Given the description of an element on the screen output the (x, y) to click on. 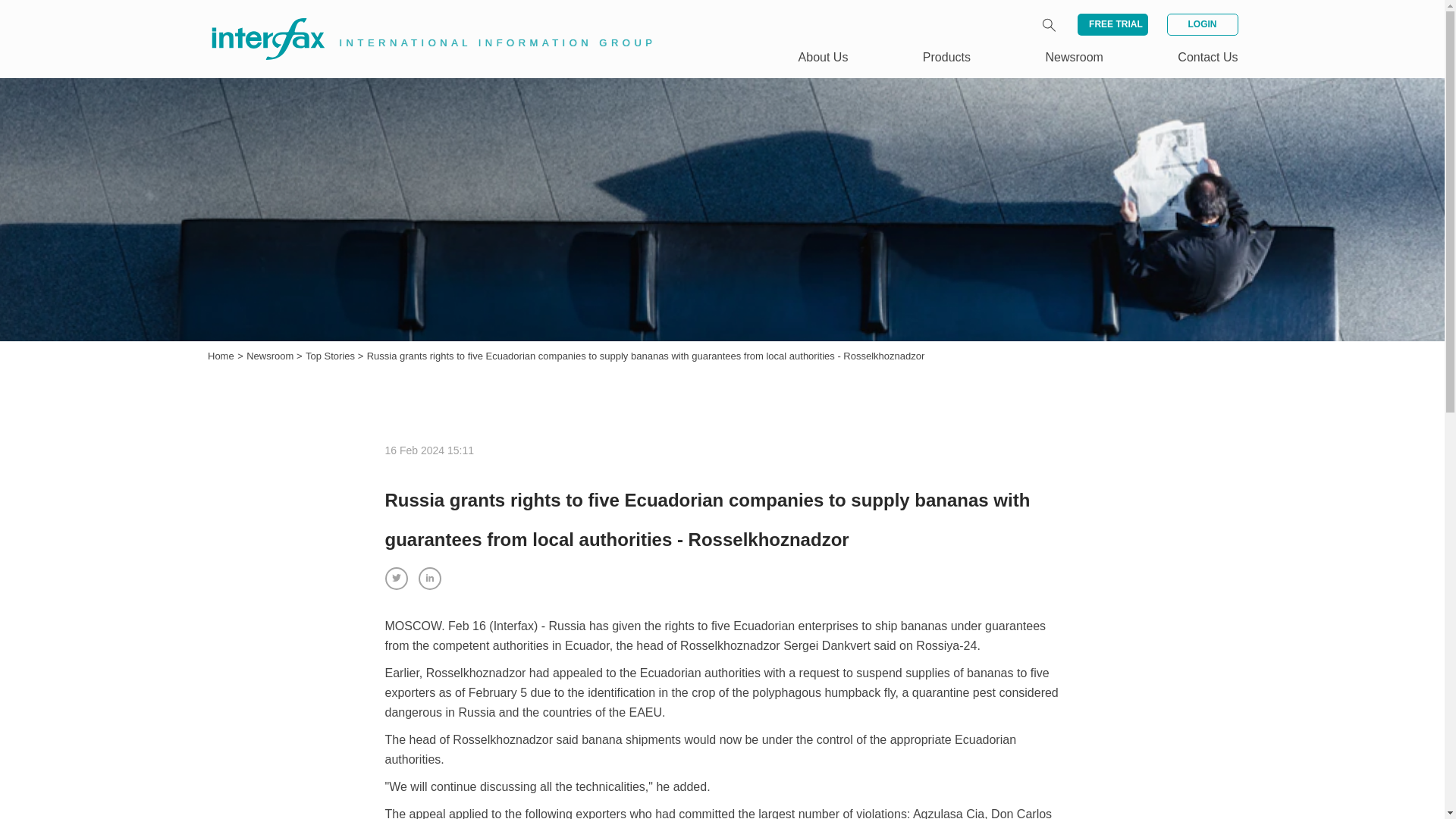
Contact Us (1207, 56)
INTERNATIONAL INFORMATION GROUP (421, 20)
Products (947, 56)
Newsroom (1073, 56)
About Us (822, 56)
Contact Us (1207, 56)
LOGIN (1201, 24)
FREE TRIAL (1112, 24)
Newsroom (271, 355)
Newsroom (271, 355)
